Given the description of an element on the screen output the (x, y) to click on. 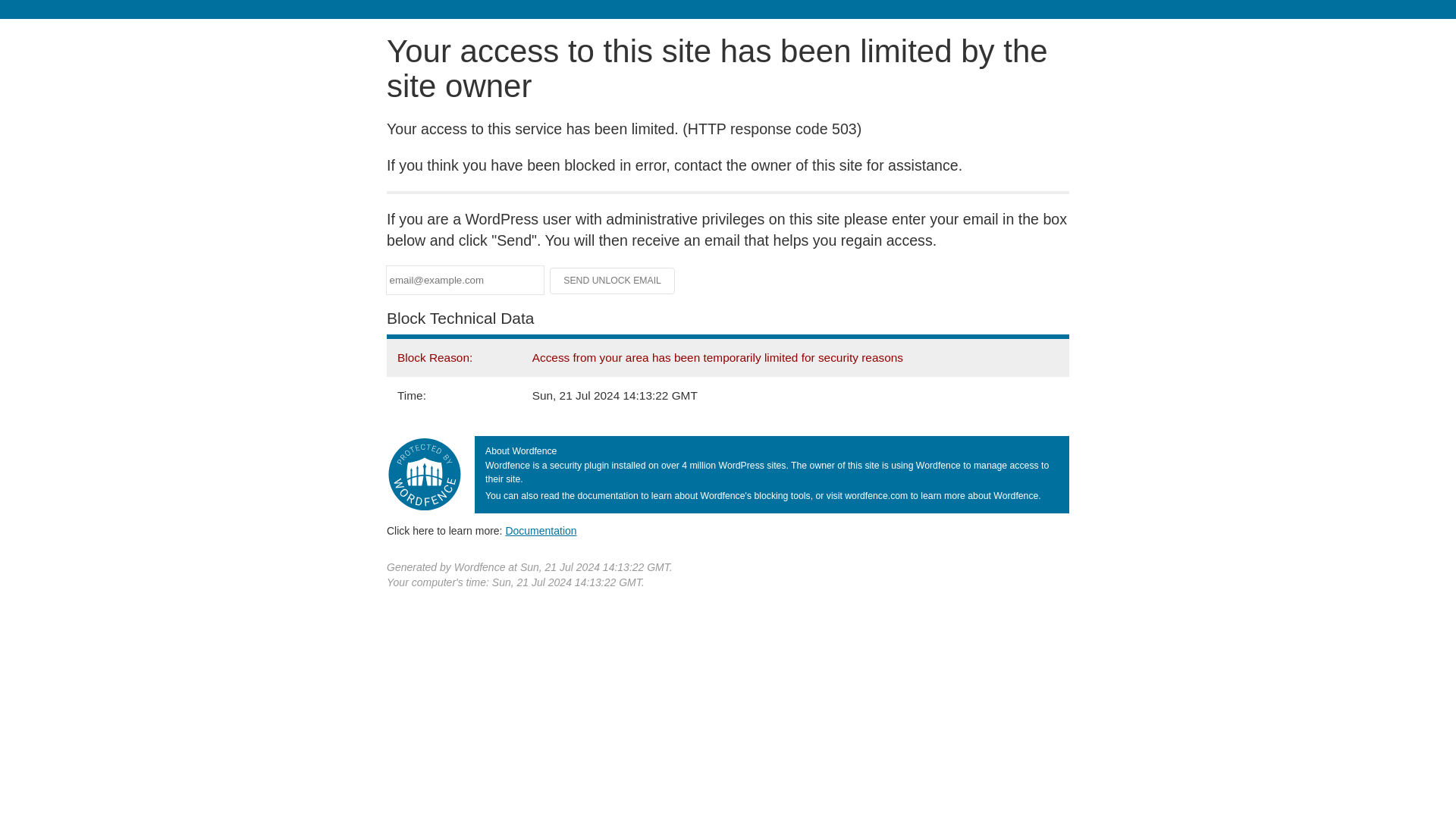
Send Unlock Email (612, 280)
Send Unlock Email (612, 280)
